Given the description of an element on the screen output the (x, y) to click on. 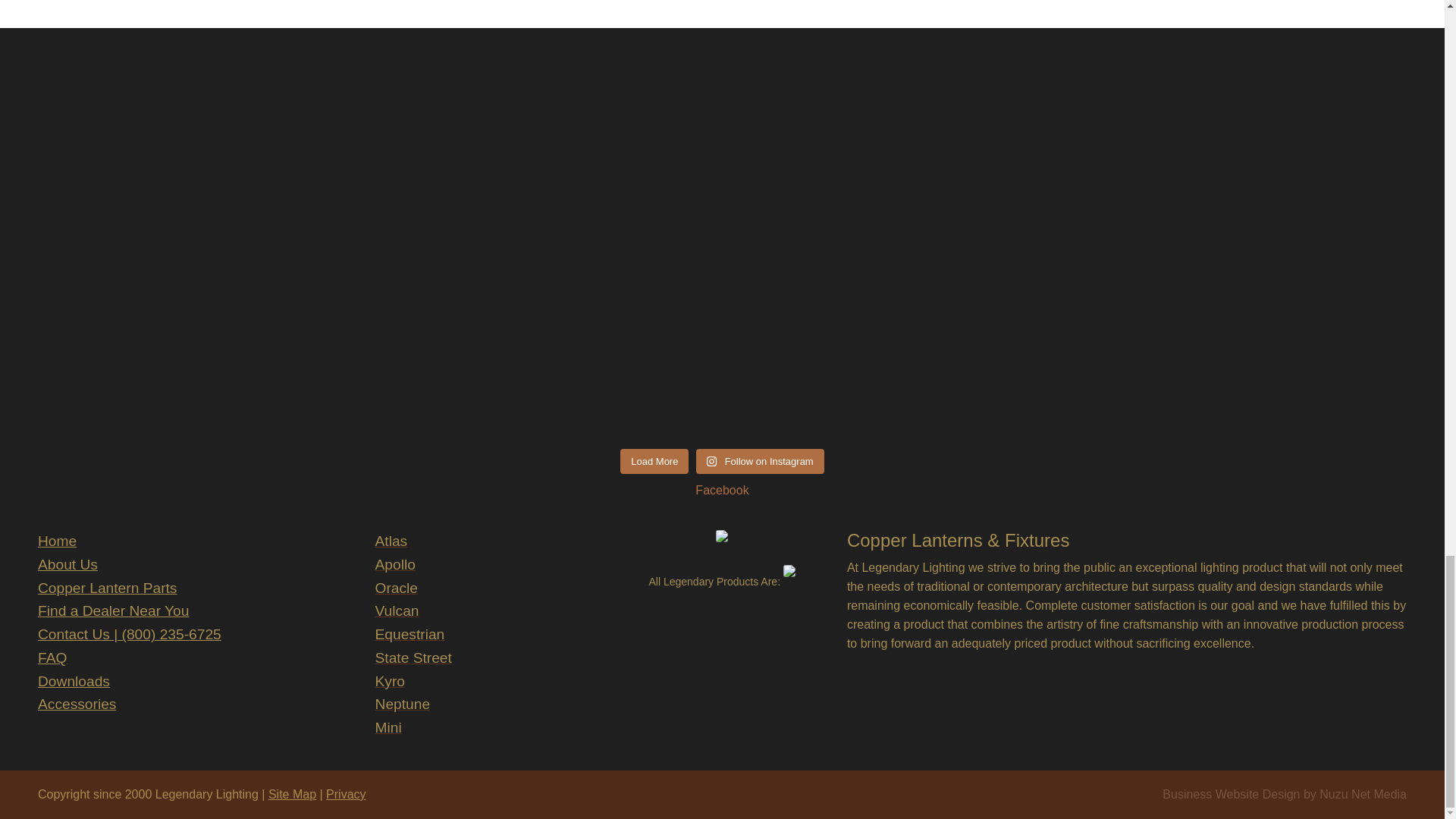
Copper Lantern Parts (106, 587)
Home (57, 540)
About Us (67, 564)
Follow on Instagram (759, 461)
Find a Dealer Near You (113, 610)
Facebook (721, 490)
Load More (654, 461)
